Given the description of an element on the screen output the (x, y) to click on. 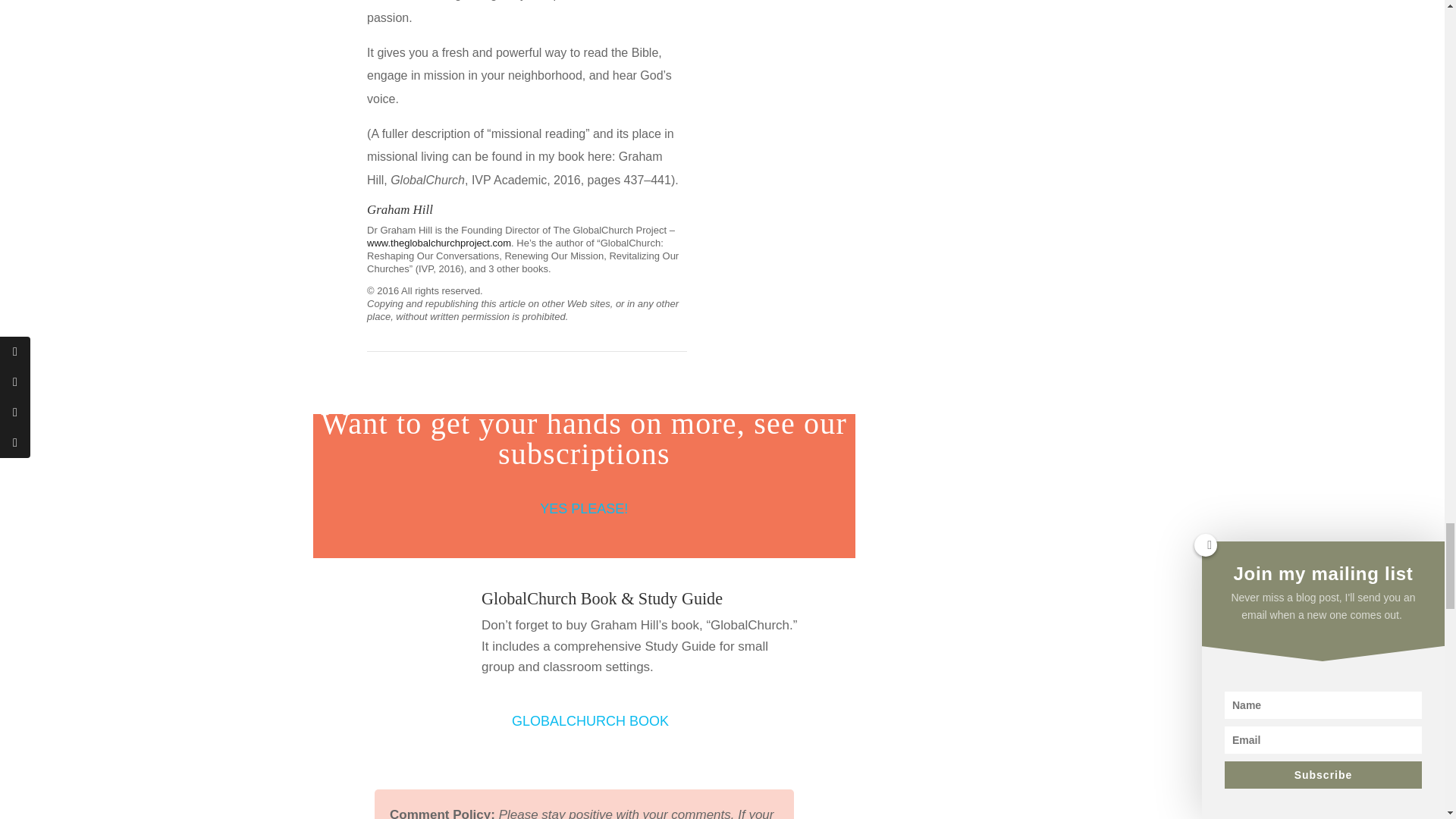
www.theglobalchurchproject.com (438, 242)
GLOBALCHURCH BOOK (589, 721)
YES PLEASE! (583, 509)
